Given the description of an element on the screen output the (x, y) to click on. 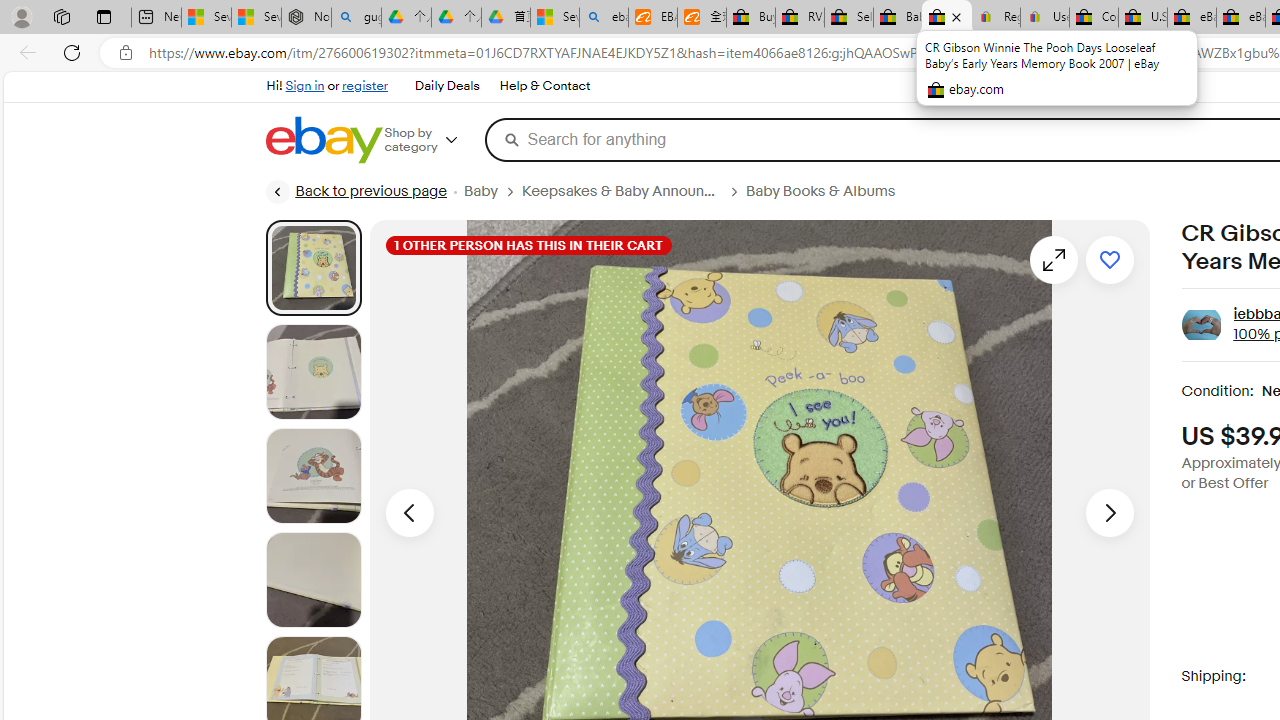
Picture 3 of 22 (313, 475)
Class: ux-action (1201, 325)
Picture 1 of 22 (313, 268)
Consumer Health Data Privacy Policy - eBay Inc. (1093, 17)
Baby Books & Albums (820, 191)
Help & Contact (543, 85)
Baby (480, 191)
Opens image gallery (1053, 259)
Baby Books & Albums (827, 191)
